Given the description of an element on the screen output the (x, y) to click on. 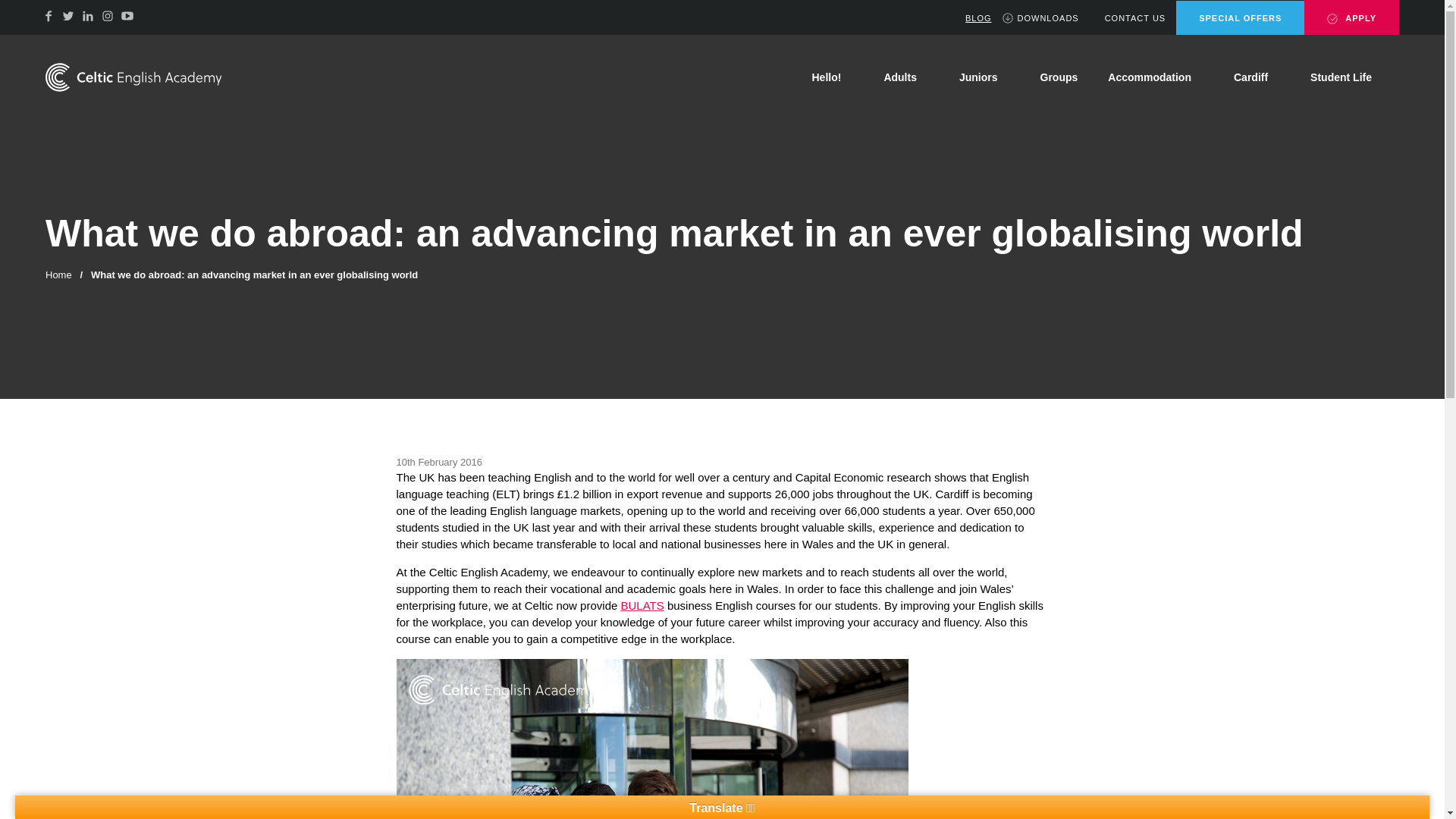
Find us on YouTube (126, 15)
Adults (906, 77)
APPLY (1351, 17)
Find us on Twitter (68, 15)
Hello! (831, 77)
DOWNLOADS (1040, 18)
Find us on Instagram (107, 15)
Find us on Facebook (48, 15)
CONTACT US (1127, 18)
Celtic English Academy (133, 76)
Find us on YouTube (126, 15)
Find us on Twitter (68, 15)
Find us on Facebook (48, 15)
SPECIAL OFFERS (1240, 17)
Find us on LinkedIn (87, 15)
